Given the description of an element on the screen output the (x, y) to click on. 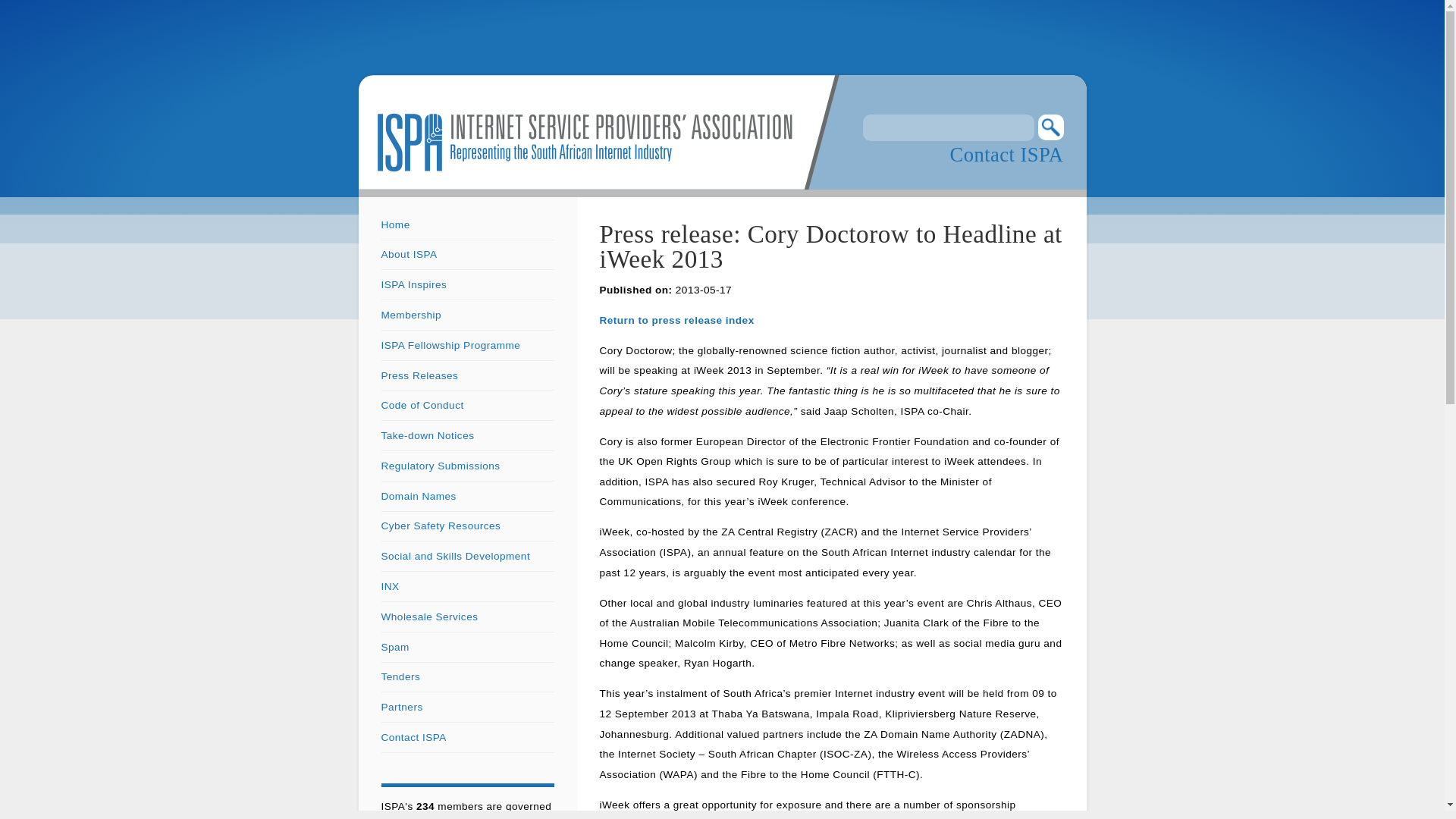
Press Releases (419, 375)
Cyber Safety Resources (440, 525)
Regulatory Submissions (439, 465)
Membership (410, 315)
Domain Names (417, 496)
Take-down Notices (427, 435)
ISPA Inspires (413, 284)
Code of Conduct (421, 405)
About ISPA (408, 254)
Social and Skills Development (454, 555)
Home (394, 224)
ISPA Fellowship Programme (449, 345)
